Given the description of an element on the screen output the (x, y) to click on. 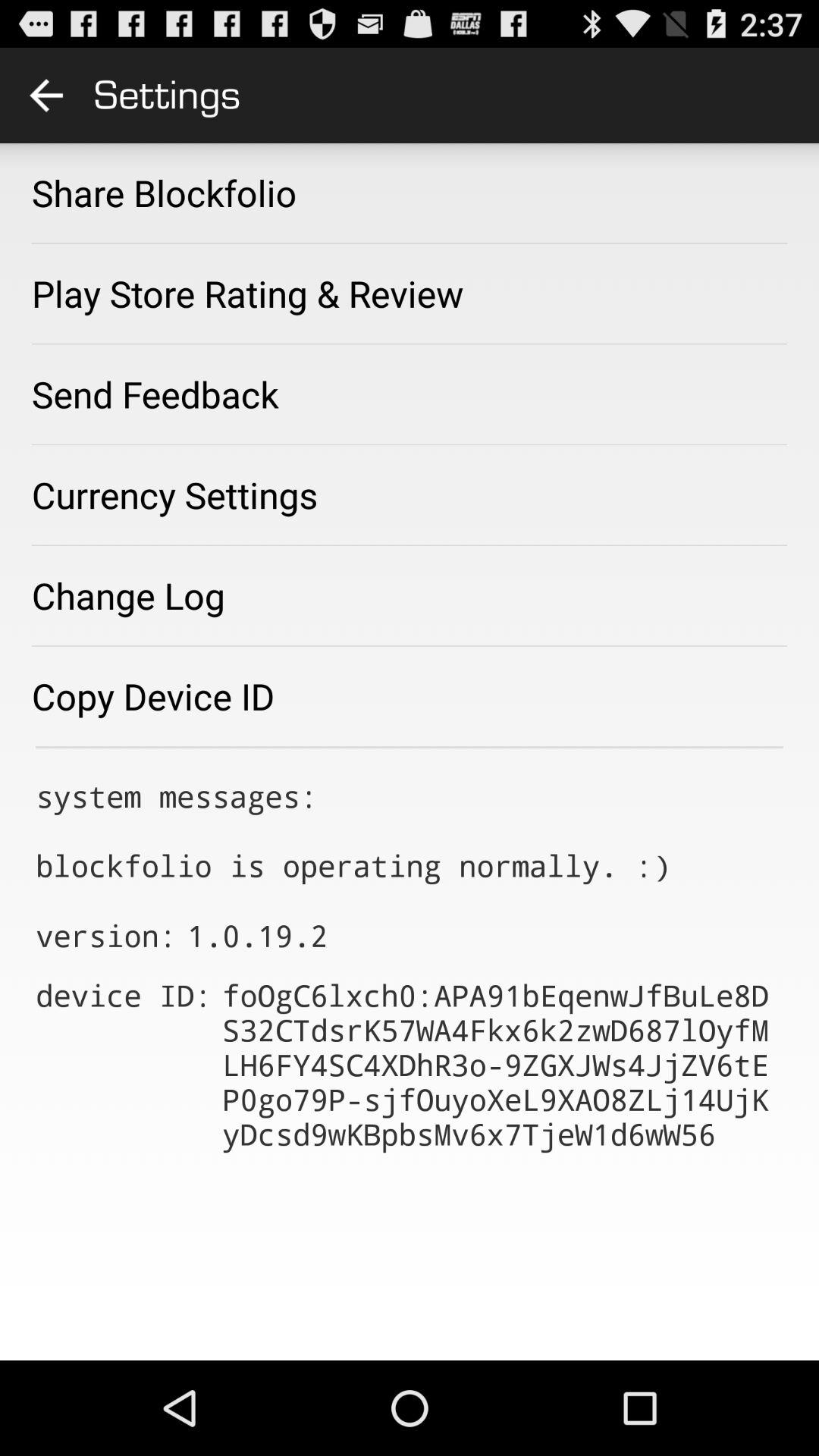
turn off item to the right of the device id: icon (502, 1064)
